Given the description of an element on the screen output the (x, y) to click on. 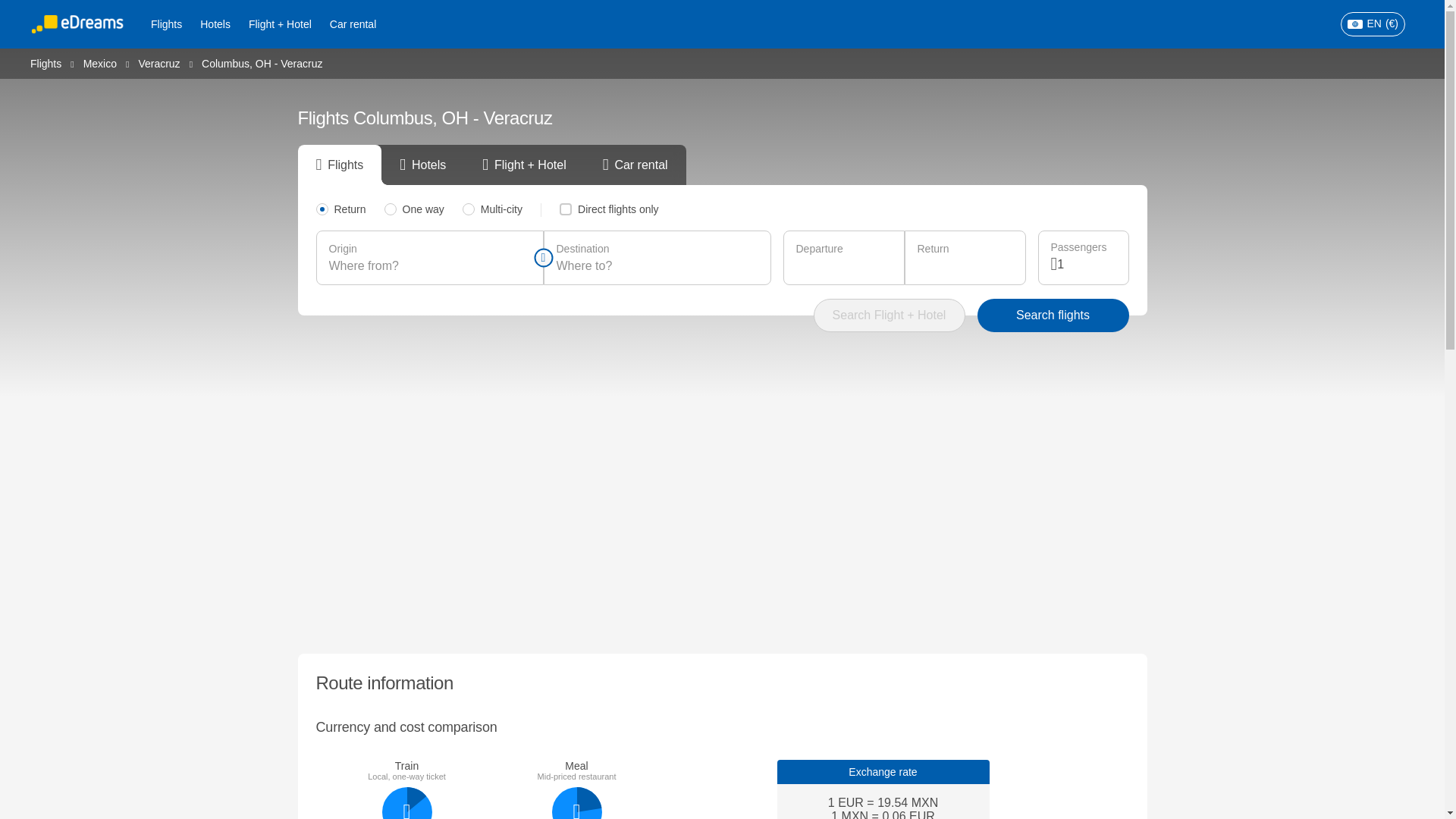
Mexico (99, 62)
Columbus, OH - Veracruz (262, 63)
1 (1086, 263)
Hotels (215, 24)
Car rental (352, 24)
Flights (45, 62)
Flights (165, 24)
Search flights (1052, 315)
Veracruz (158, 62)
